Given the description of an element on the screen output the (x, y) to click on. 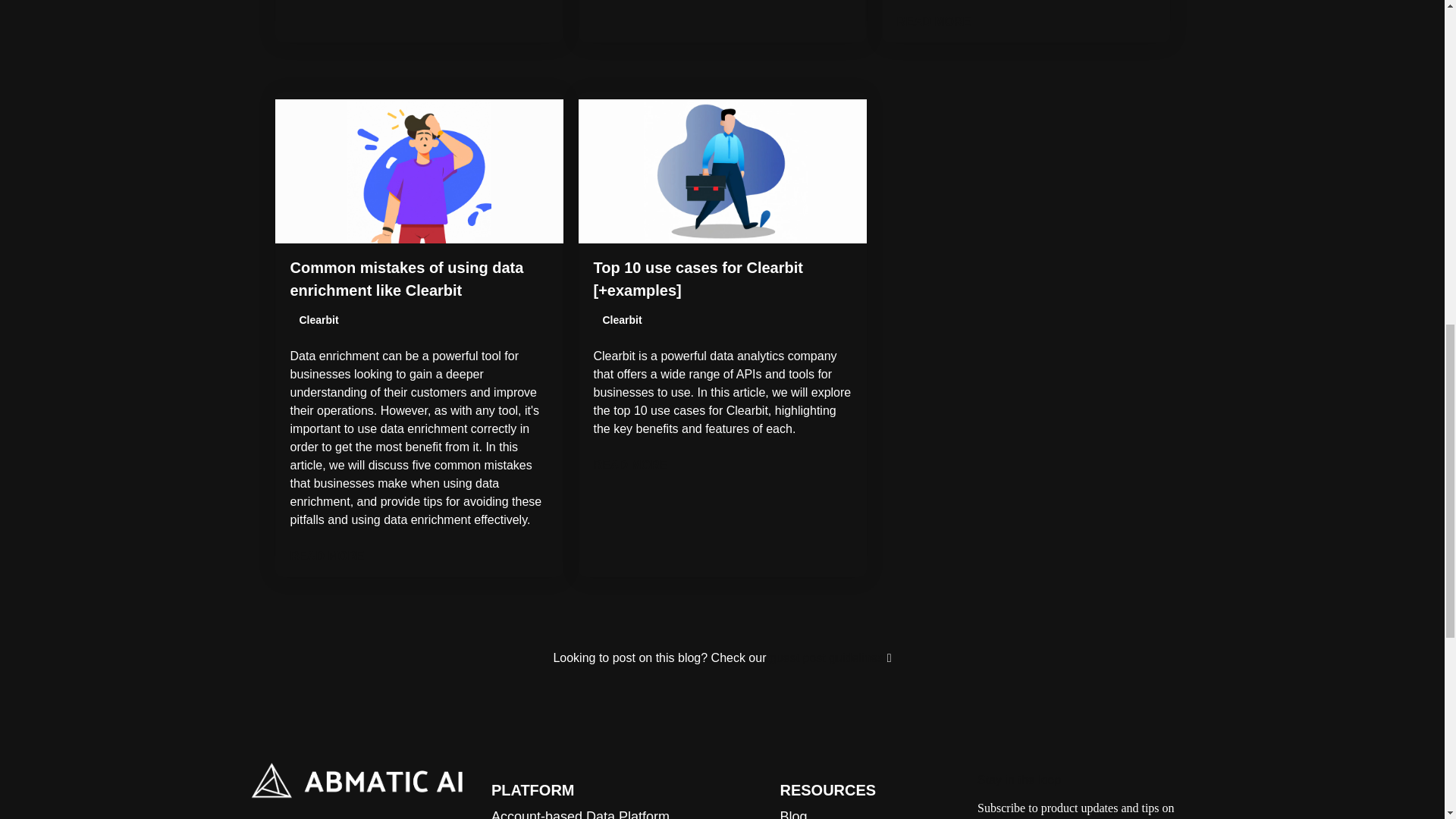
READ MORE (1025, 22)
Common mistakes of using data enrichment like Clearbit (405, 278)
Abmatic logo (357, 780)
Account-based Data Platform (580, 814)
guest post guidelines (828, 657)
Blog (792, 814)
READ MORE (418, 556)
Clearbit (318, 320)
READ MORE (721, 465)
Clearbit (621, 320)
